Given the description of an element on the screen output the (x, y) to click on. 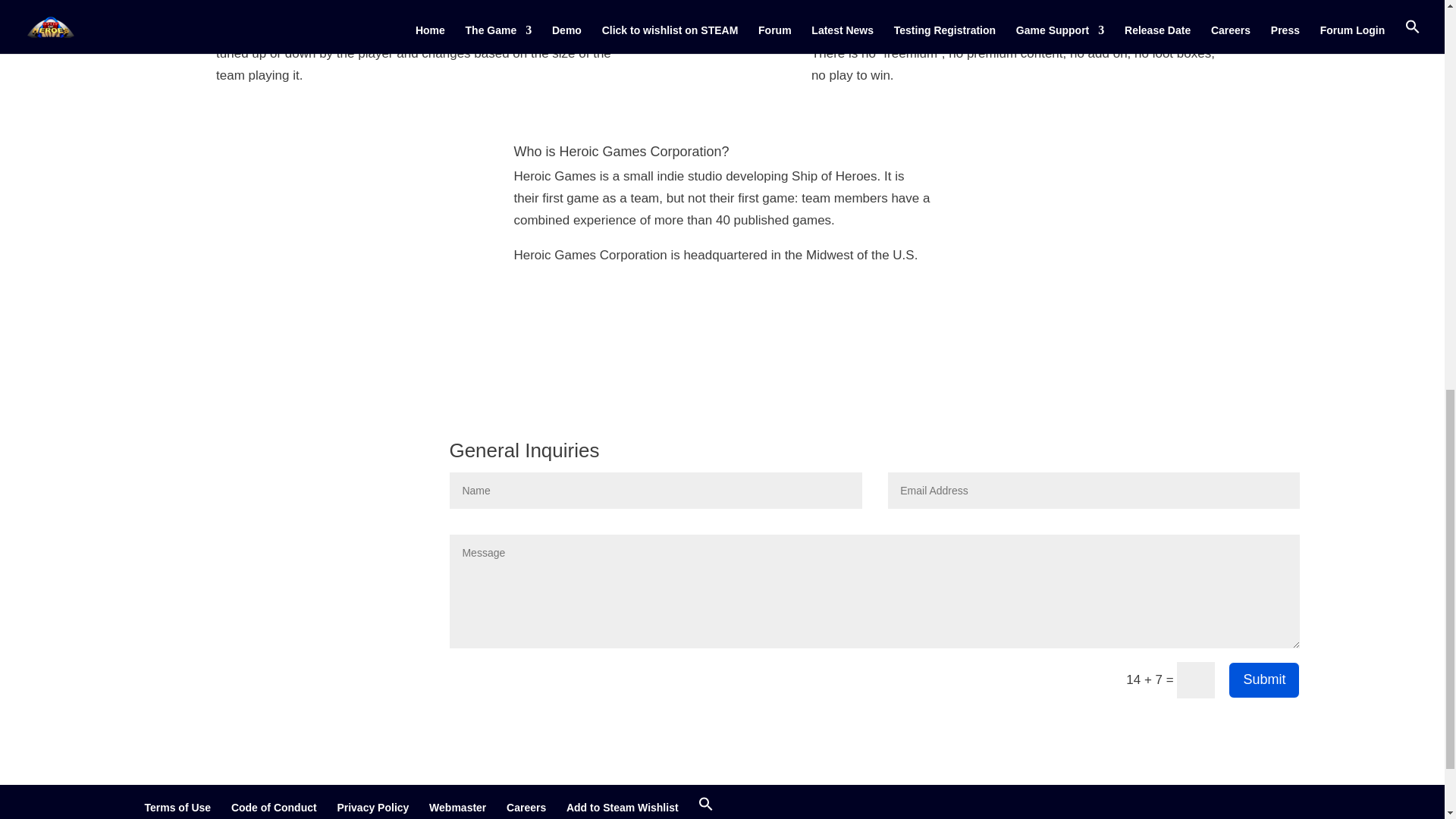
Webmaster (457, 807)
Terms of Use (177, 807)
Code of Conduct (274, 807)
Privacy Policy (372, 807)
Add to Steam Wishlist (622, 807)
Careers (526, 807)
Submit (1264, 679)
